Given the description of an element on the screen output the (x, y) to click on. 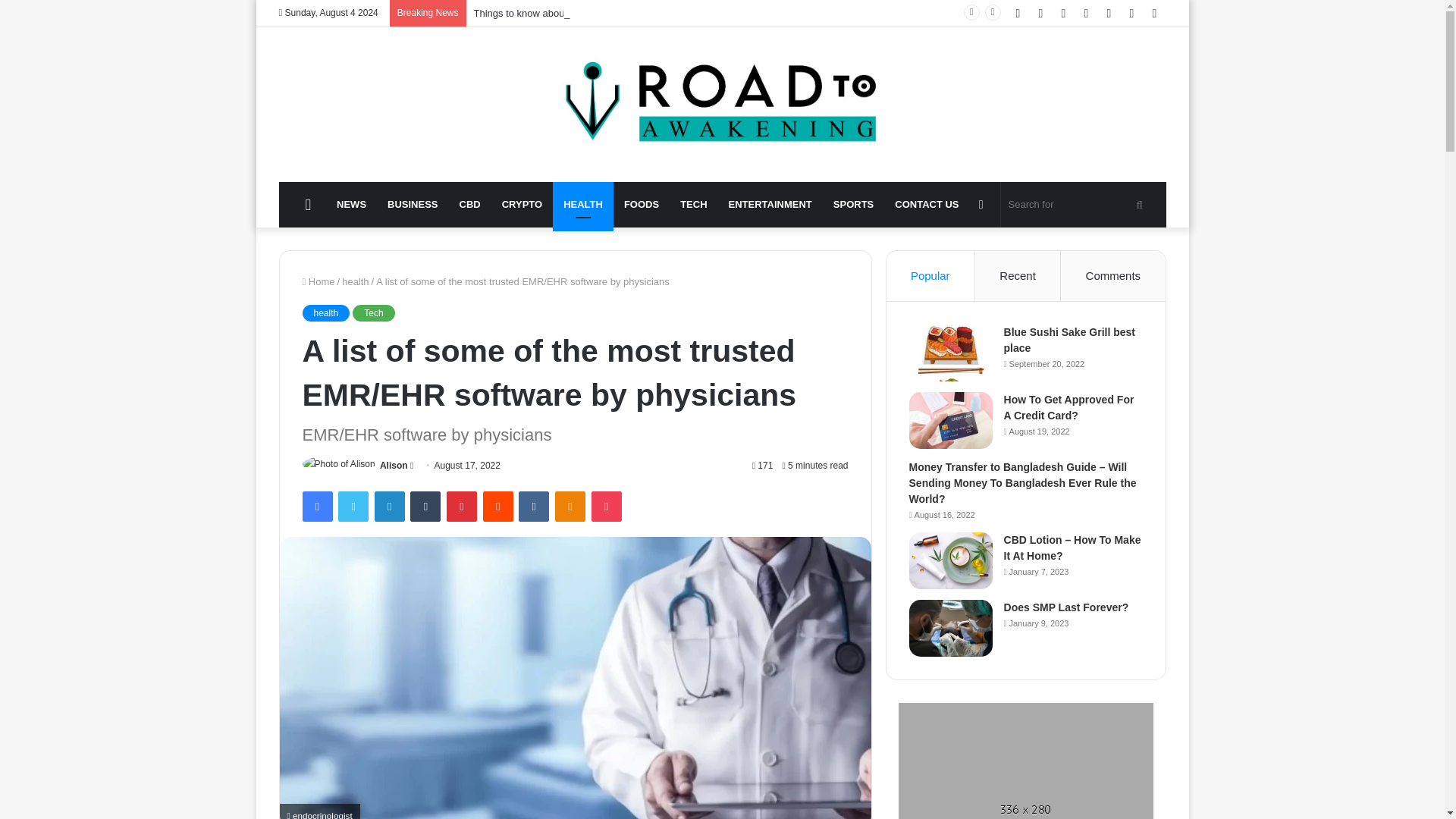
Tumblr (425, 506)
Odnoklassniki (569, 506)
Things to know about madison beer cameltoe (572, 12)
NEWS (351, 204)
BUSINESS (412, 204)
FOODS (640, 204)
Reddit (498, 506)
LinkedIn (389, 506)
Tech (373, 312)
Alison (393, 465)
Facebook (316, 506)
Twitter (352, 506)
Twitter (352, 506)
health (325, 312)
Facebook (316, 506)
